Given the description of an element on the screen output the (x, y) to click on. 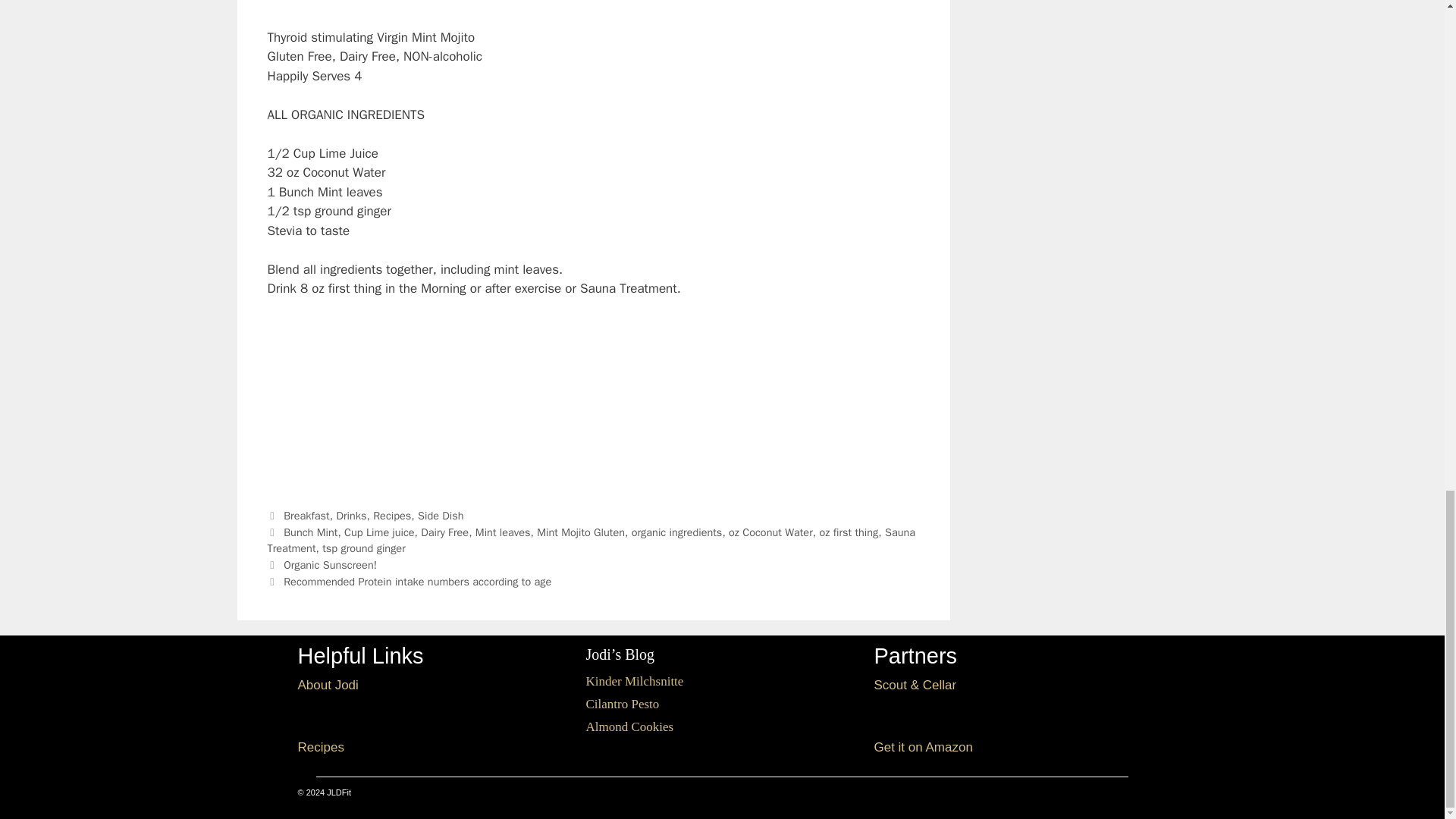
About Jodi (327, 685)
Cup Lime juice (378, 531)
Dairy Free (444, 531)
Drinks (351, 515)
oz first thing (847, 531)
Cilantro Pesto (622, 703)
Almond Cookies (628, 726)
Mint leaves (503, 531)
Sauna Treatment (590, 540)
Mint Mojito Gluten (580, 531)
Recipes (320, 747)
tsp ground ginger (363, 548)
oz Coconut Water (770, 531)
Recommended Protein intake numbers according to age (417, 581)
Kinder Milchsnitte (633, 681)
